Given the description of an element on the screen output the (x, y) to click on. 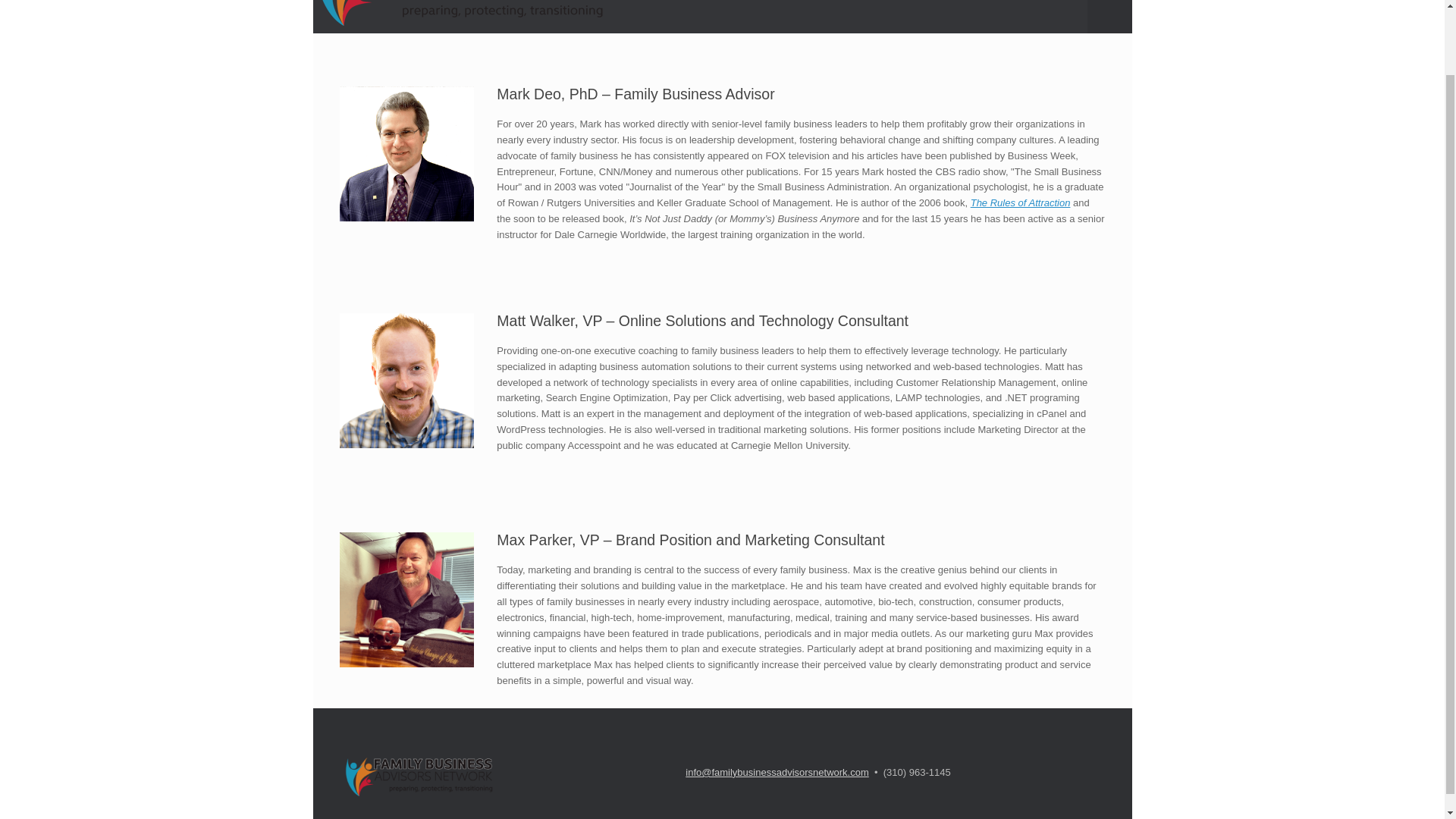
BLOG (659, 2)
ABOUT US (855, 2)
The Rules of Attraction (1020, 202)
FBAN (460, 16)
SERVICES (751, 2)
CONNECT (958, 2)
